Given the description of an element on the screen output the (x, y) to click on. 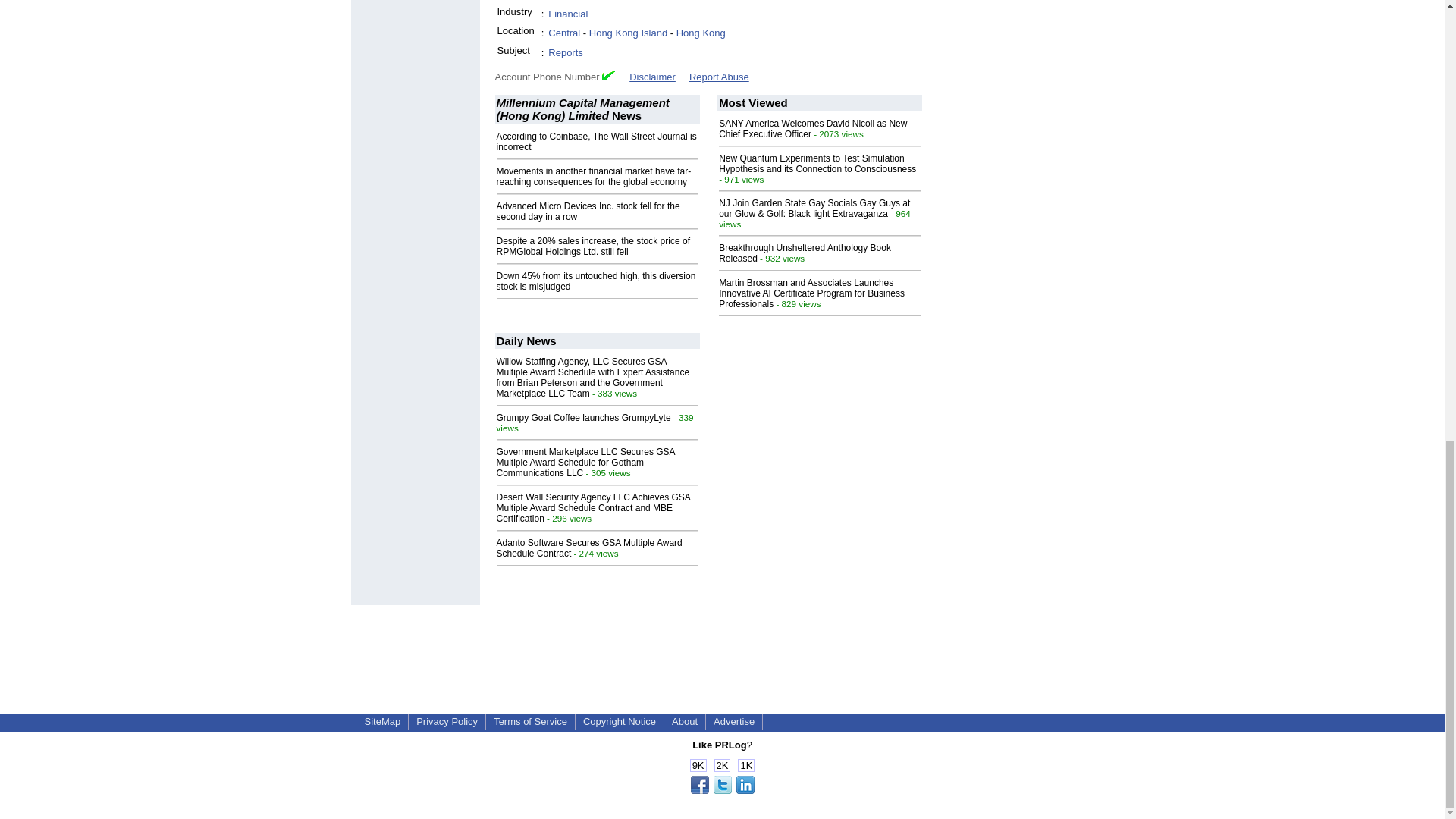
Share this page! (722, 790)
Verified (608, 75)
